Given the description of an element on the screen output the (x, y) to click on. 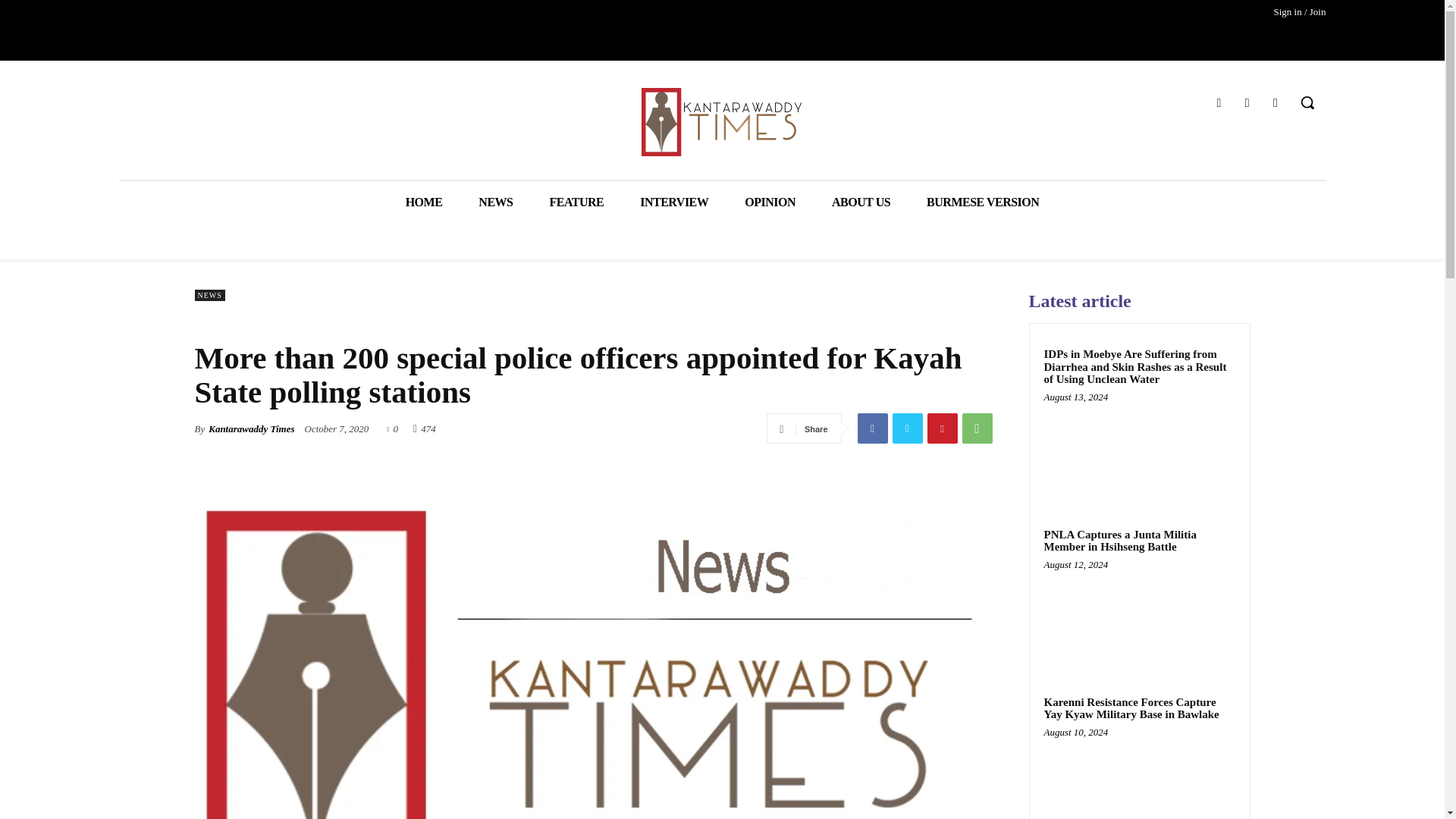
NEWS (208, 295)
Facebook (871, 428)
NEWS (495, 201)
HOME (424, 201)
Twitter (1246, 102)
Kantarawaddy Times (251, 428)
Facebook (1218, 102)
INTERVIEW (673, 201)
ABOUT US (860, 201)
0 (392, 428)
